Given the description of an element on the screen output the (x, y) to click on. 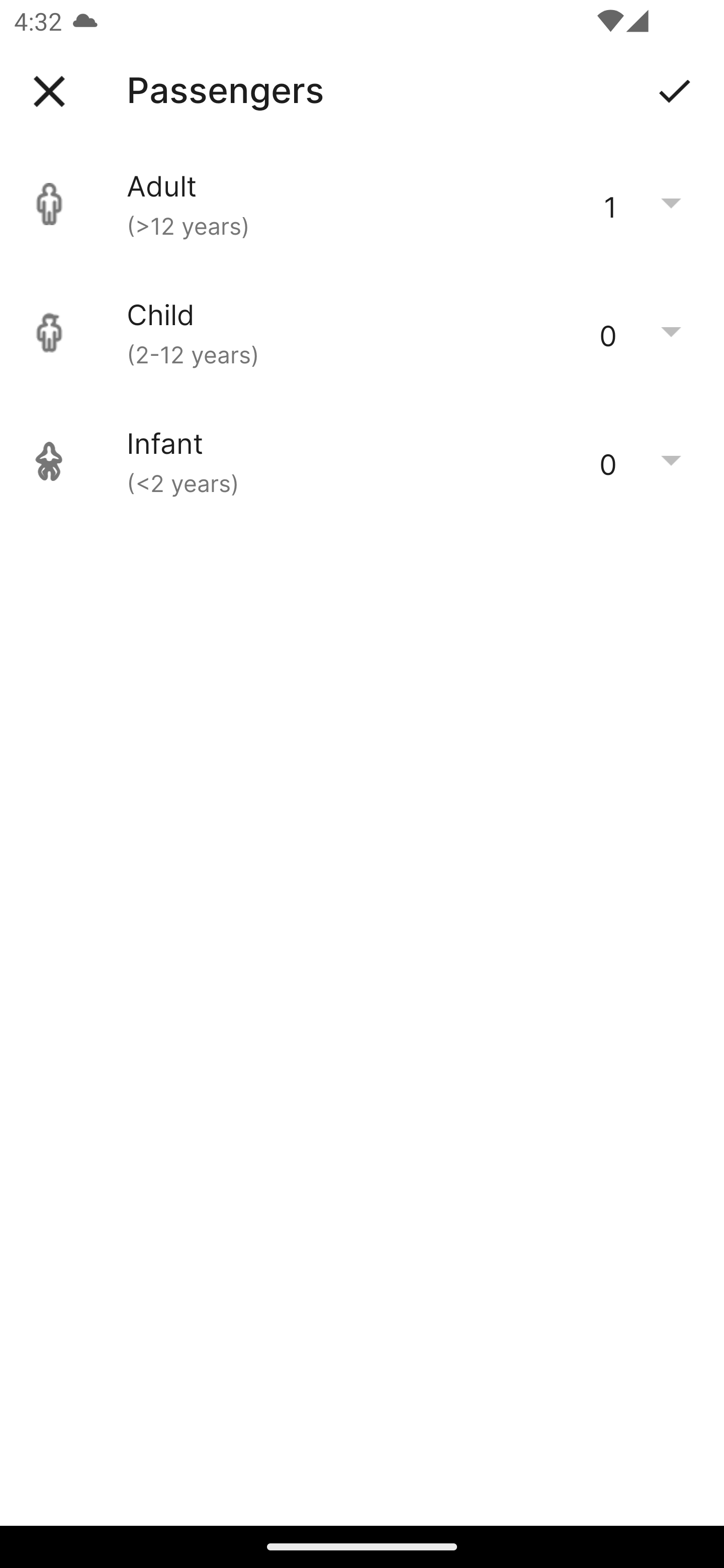
Adult (>12 years) 1 (362, 204)
Child (2-12 years) 0 (362, 332)
Infant (<2 years) 0 (362, 461)
